Given the description of an element on the screen output the (x, y) to click on. 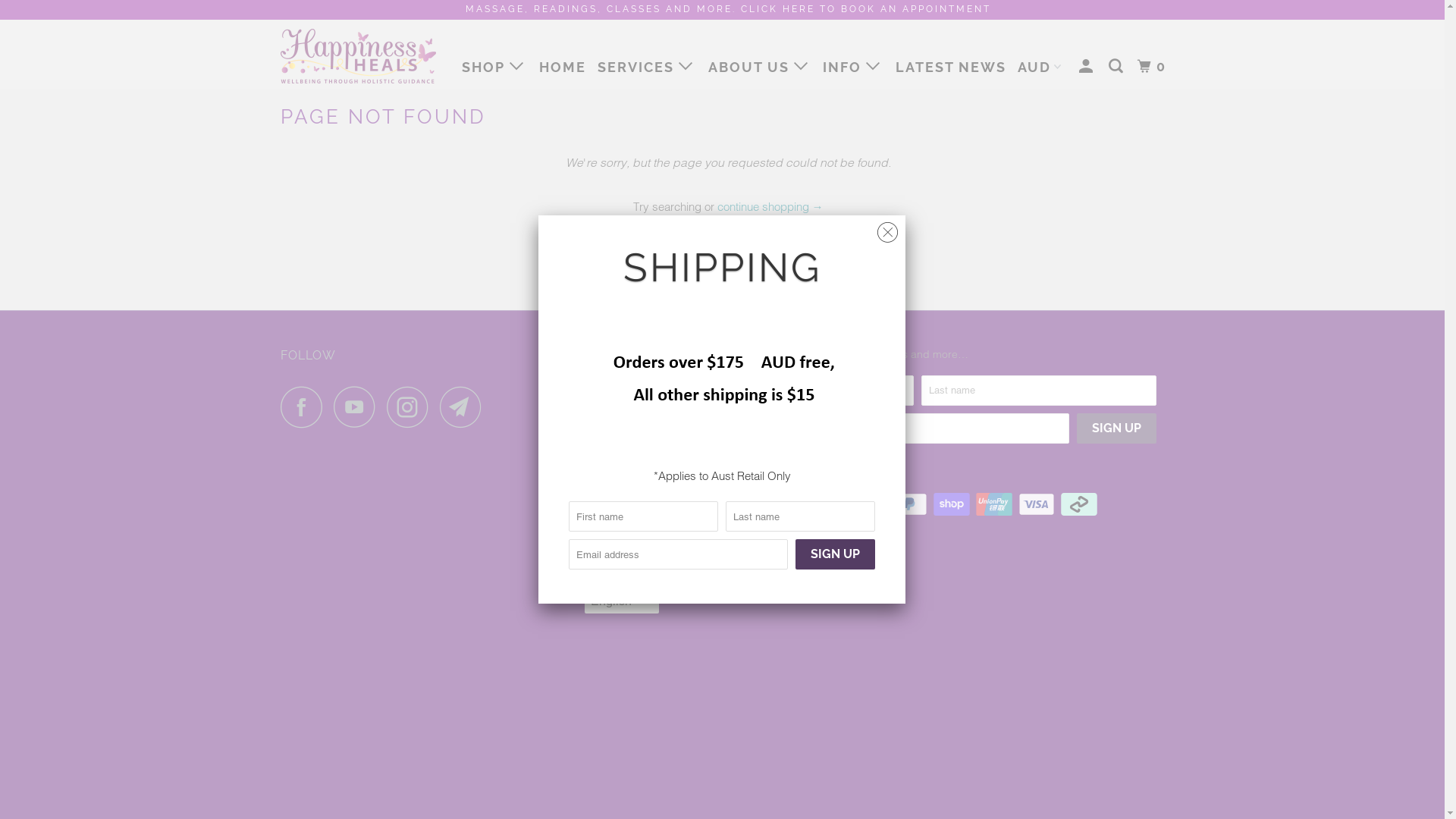
Happiness Heals on Instagram Element type: hover (411, 406)
Happiness Heals Element type: text (758, 456)
Powered by Shopify Element type: text (727, 475)
Happiness Heals Element type: hover (358, 53)
Sign Up Element type: text (835, 554)
INFO Element type: text (853, 66)
Sign Up Element type: text (1116, 428)
0 Element type: text (1153, 66)
Happiness Heals on YouTube Element type: hover (358, 406)
SHOP Element type: text (494, 66)
HOME Element type: text (562, 67)
LATEST NEWS Element type: text (950, 67)
SERVICES Element type: text (646, 66)
Email Happiness Heals Element type: hover (464, 406)
My Account  Element type: hover (1088, 66)
ABOUT US Element type: text (760, 66)
Close Element type: hover (887, 228)
Happiness Heals on Facebook Element type: hover (305, 406)
Search Element type: hover (1117, 66)
